Given the description of an element on the screen output the (x, y) to click on. 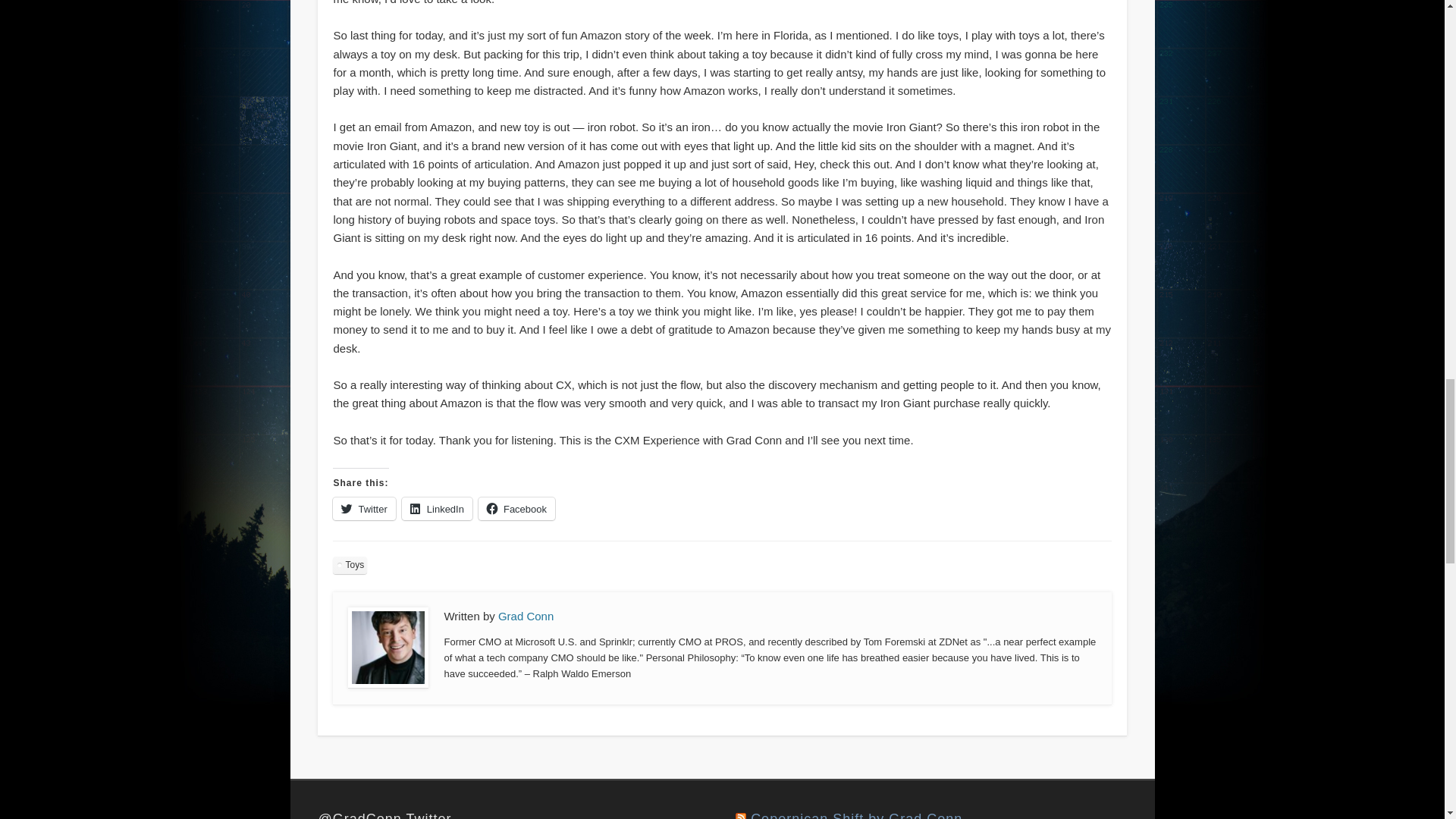
Click to share on Facebook (516, 508)
Click to share on Twitter (363, 508)
Click to share on LinkedIn (436, 508)
Twitter (363, 508)
Posts by Grad Conn (525, 615)
